Given the description of an element on the screen output the (x, y) to click on. 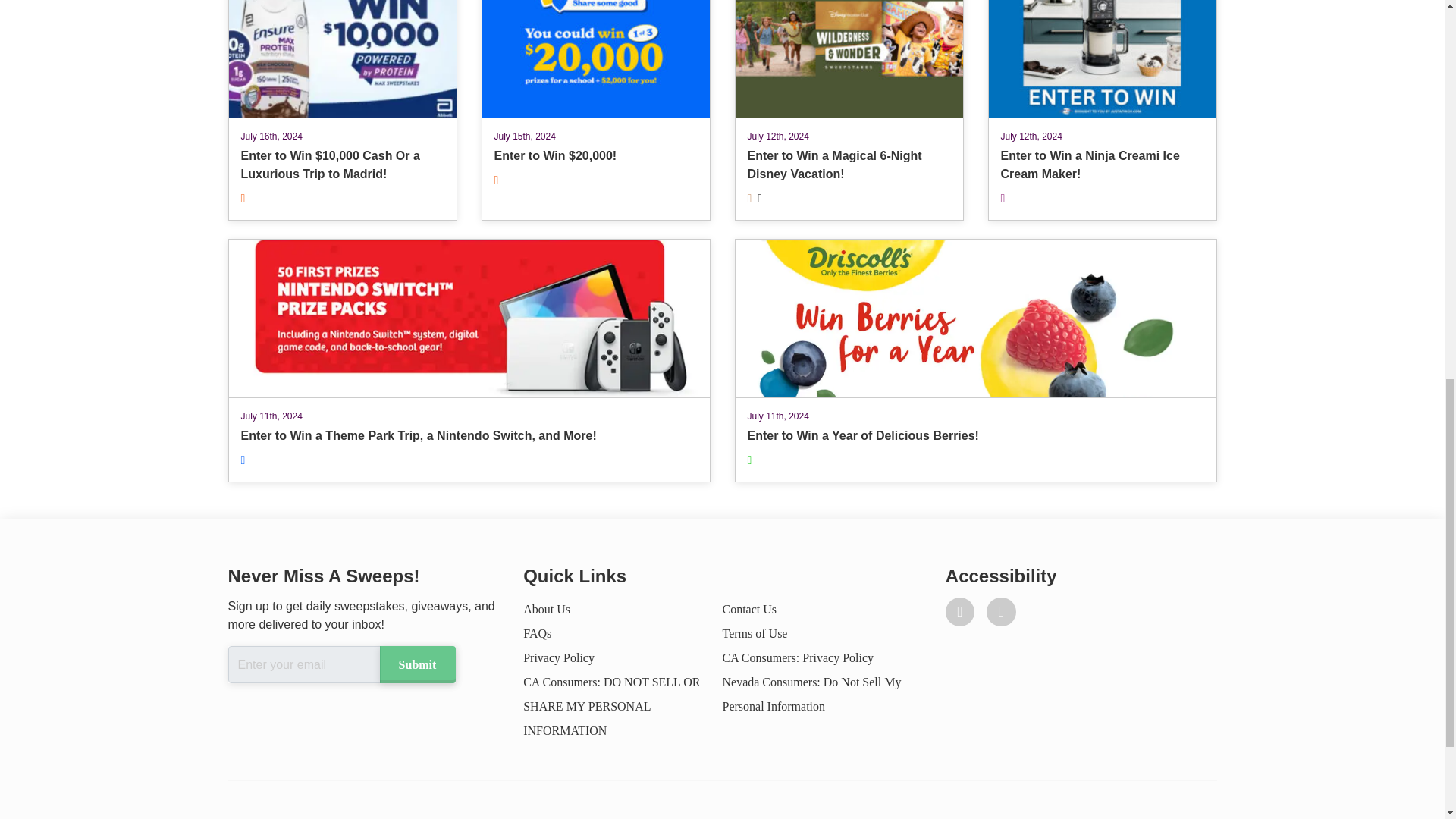
Submit (416, 664)
Terms of Use (1101, 110)
Contact Us (974, 360)
Privacy Policy (754, 633)
CA Consumers: DO NOT SELL OR SHARE MY PERSONAL INFORMATION (749, 608)
About Us (558, 657)
CA Consumers: Privacy Policy (611, 706)
FAQs (546, 608)
